Given the description of an element on the screen output the (x, y) to click on. 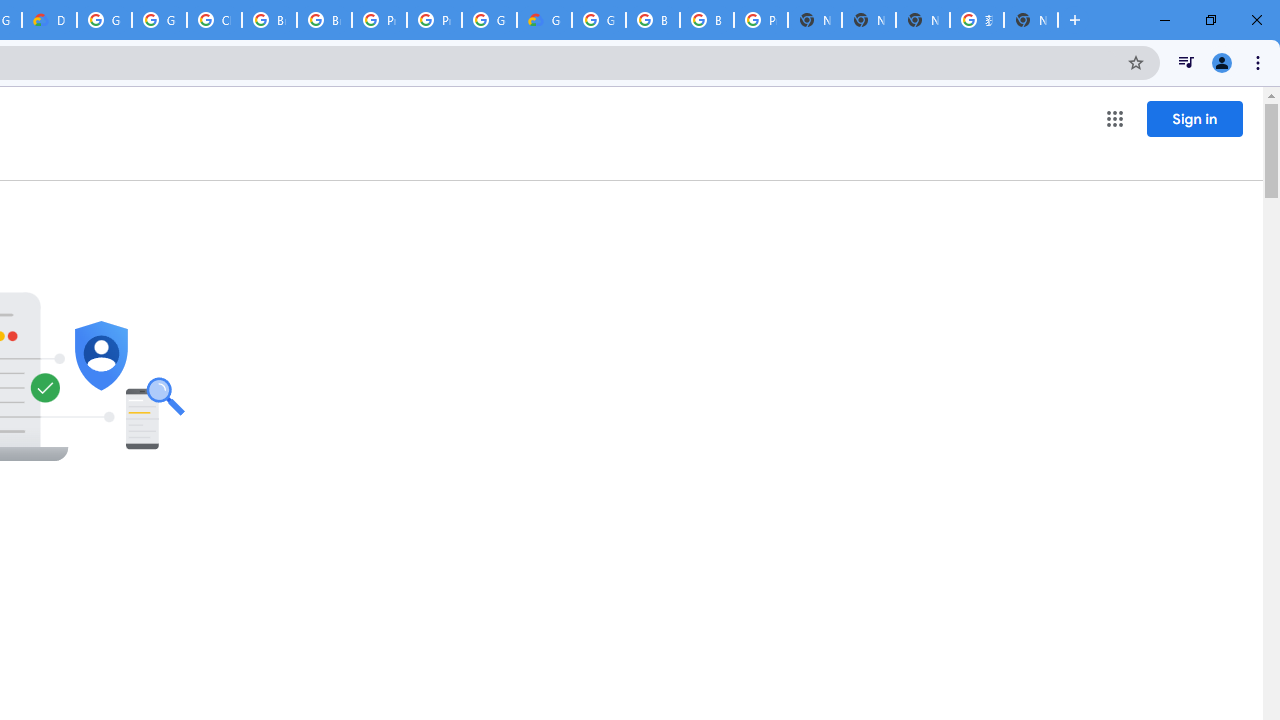
New Tab (815, 20)
Browse Chrome as a guest - Computer - Google Chrome Help (652, 20)
Browse Chrome as a guest - Computer - Google Chrome Help (268, 20)
Google Cloud Platform (489, 20)
